Given the description of an element on the screen output the (x, y) to click on. 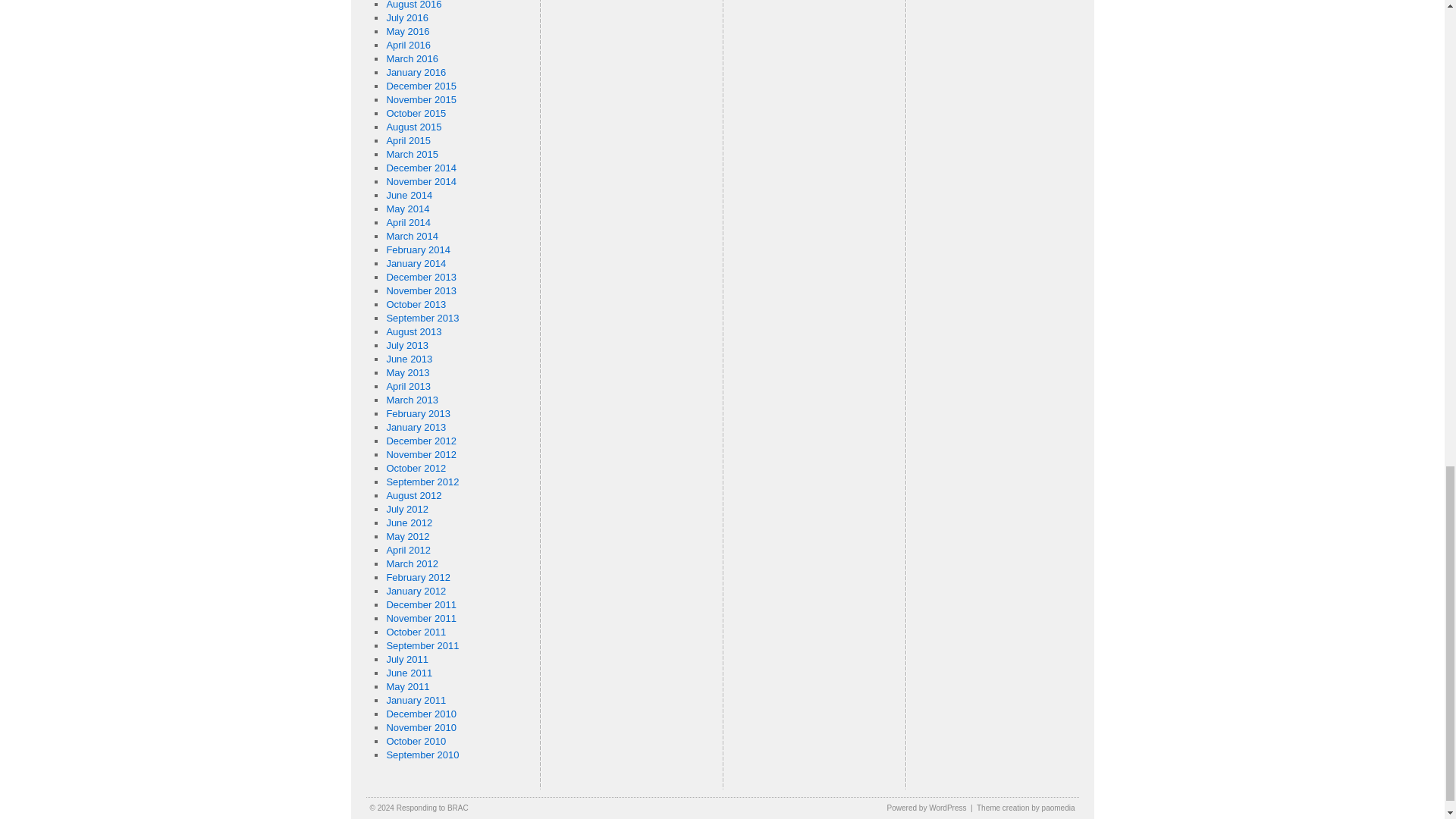
Responding to BRAC (432, 807)
